Given the description of an element on the screen output the (x, y) to click on. 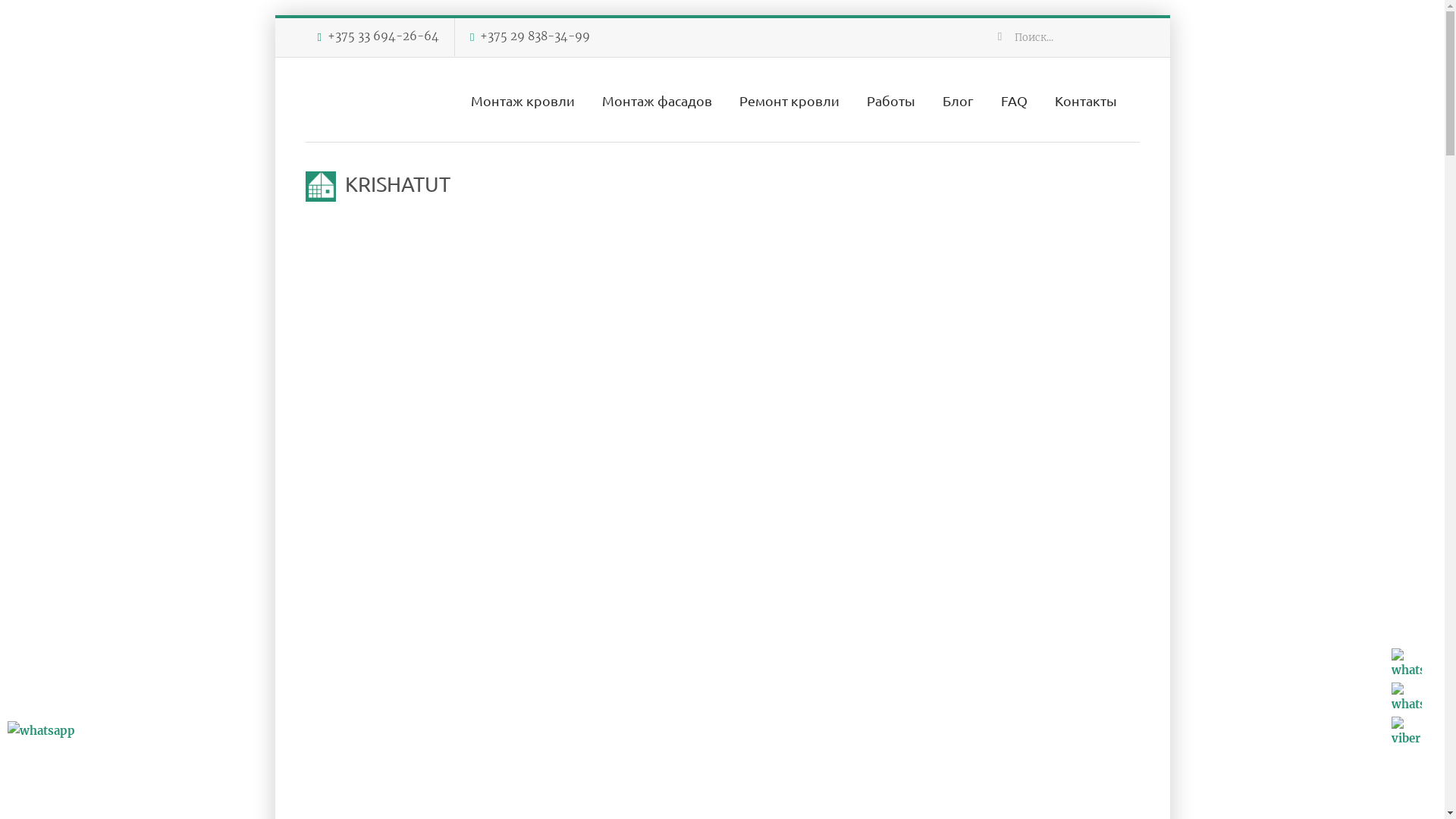
+375 33 694-26-64 Element type: text (383, 35)
KRISHATUT Element type: text (376, 183)
FAQ Element type: text (1014, 100)
+375 29 838-34-99 Element type: text (534, 35)
